Given the description of an element on the screen output the (x, y) to click on. 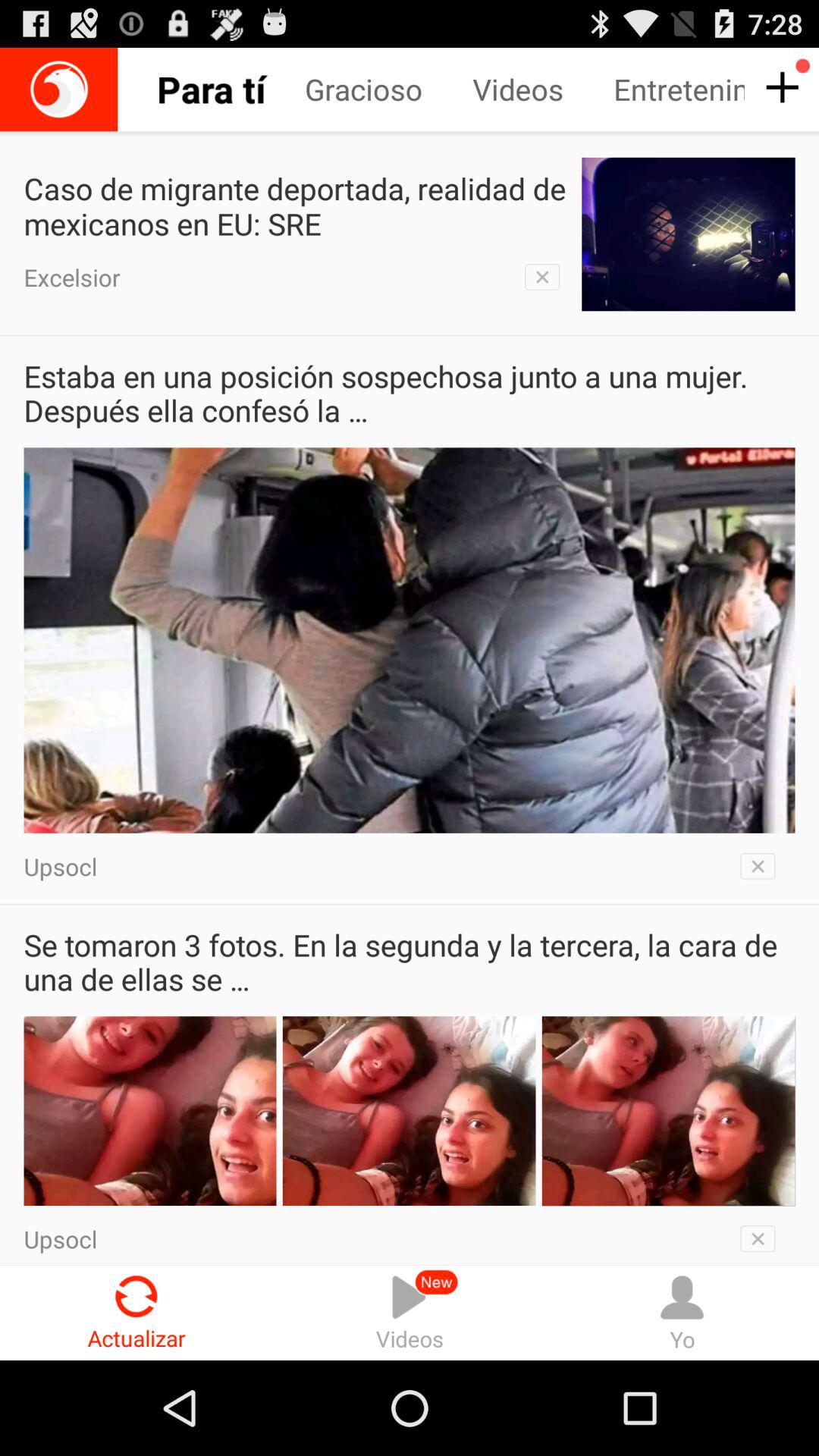
add button (779, 87)
